Given the description of an element on the screen output the (x, y) to click on. 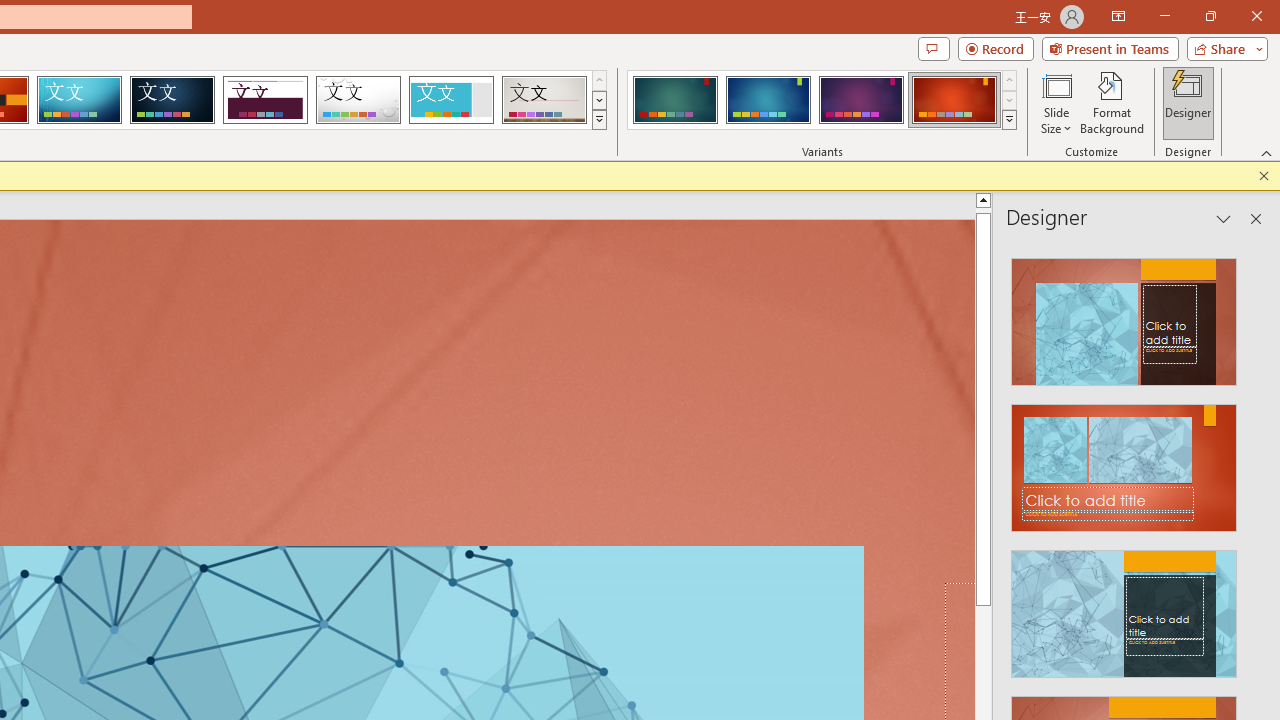
Design Idea (1124, 607)
Ion Variant 4 (953, 100)
Damask (171, 100)
Close this message (1263, 176)
Droplet (358, 100)
Frame (450, 100)
Variants (1009, 120)
